Given the description of an element on the screen output the (x, y) to click on. 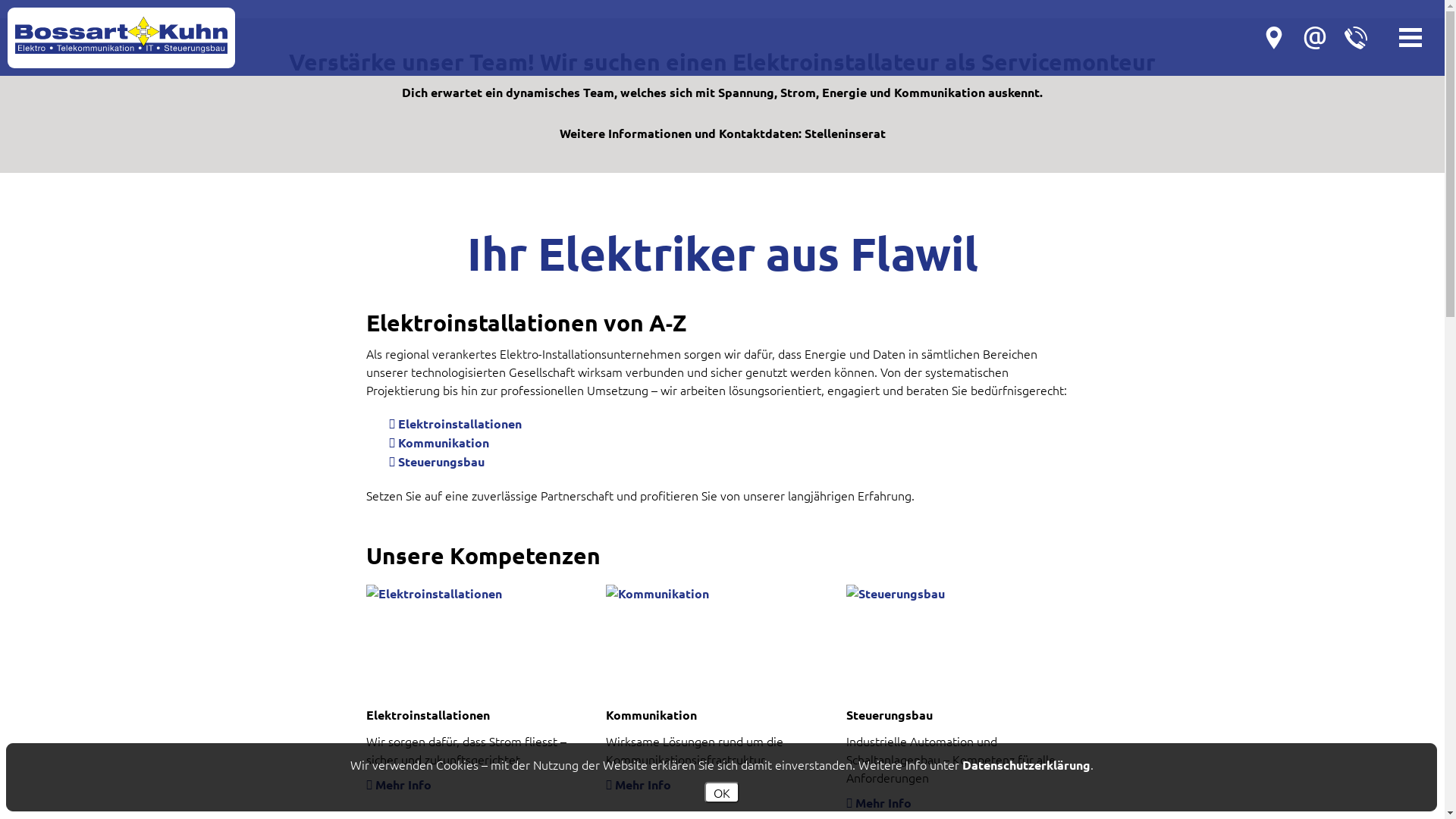
Stelleninserat Element type: text (843, 133)
Kommunikation Element type: hover (713, 593)
OK Element type: text (720, 792)
Steuerungsbau Element type: hover (954, 593)
Elektroinstallationen Element type: hover (473, 593)
